Given the description of an element on the screen output the (x, y) to click on. 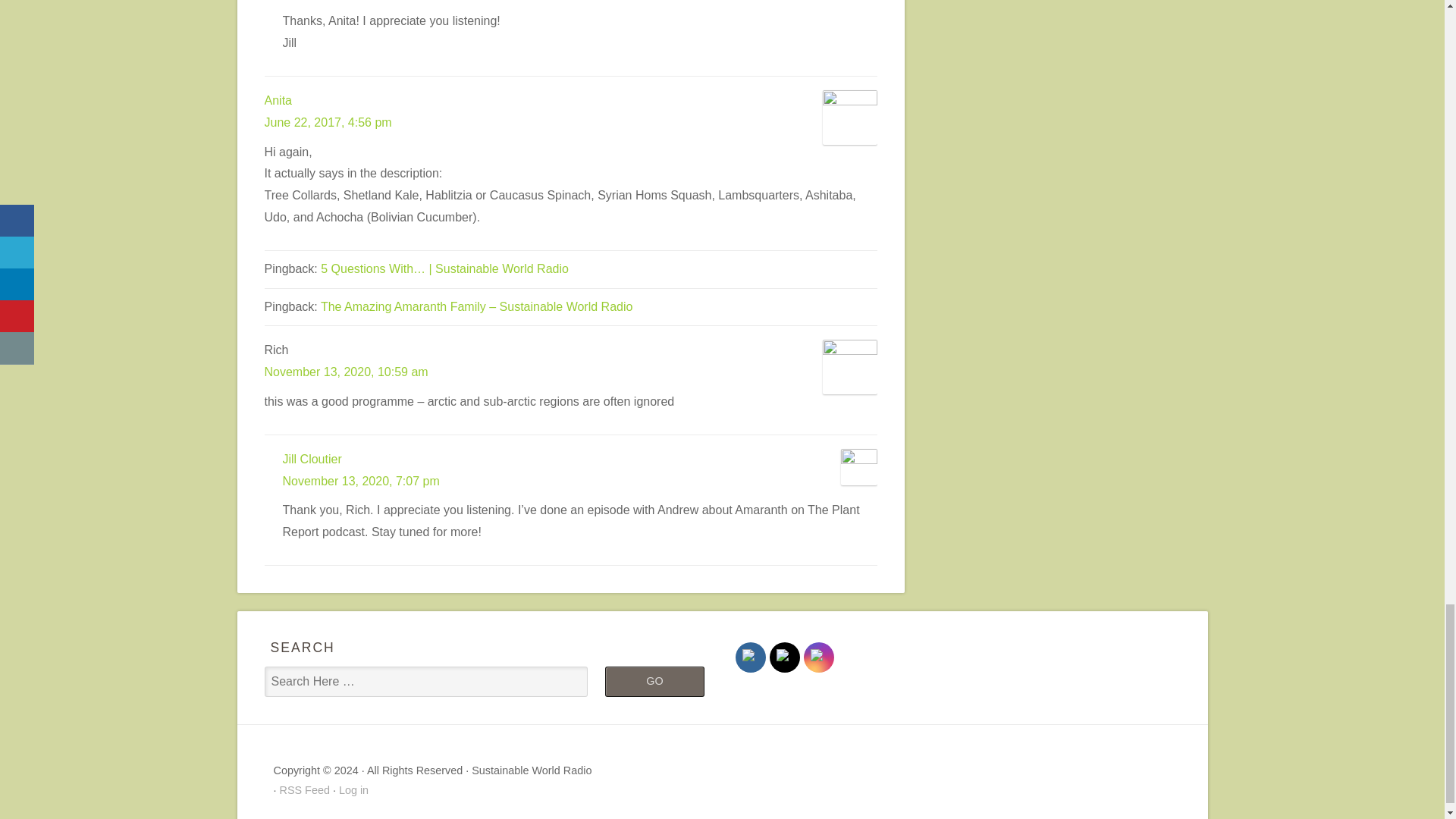
Go (654, 681)
Instagram (818, 657)
Facebook (749, 657)
Twitter (784, 657)
